Given the description of an element on the screen output the (x, y) to click on. 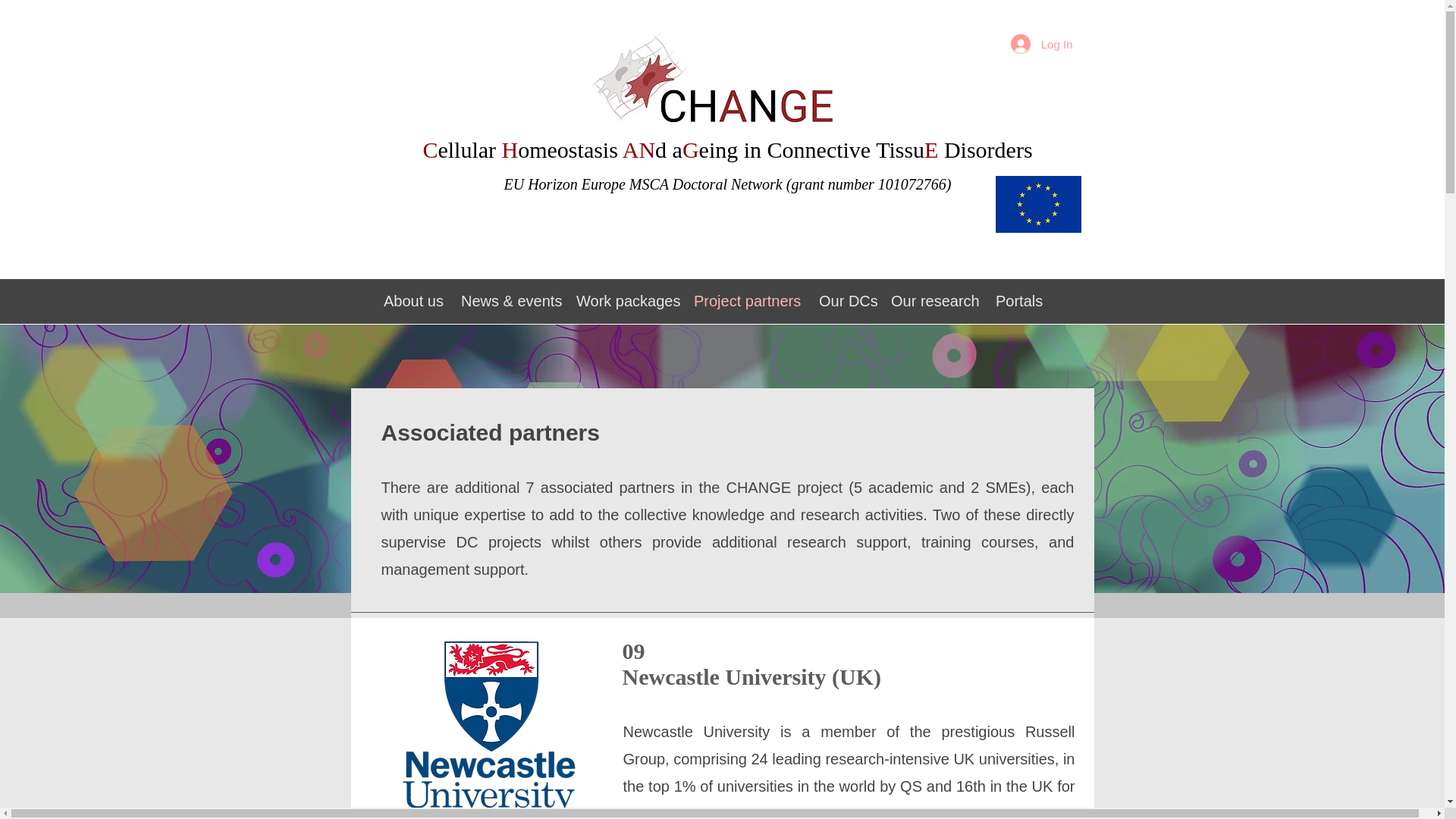
Project partners (746, 301)
About us (412, 301)
Log In (1041, 43)
Our DCs (844, 301)
ellular (469, 149)
AN (639, 149)
eing in Connective Tissu (811, 149)
omeostasis (570, 149)
d a (668, 149)
Work packages (625, 301)
